Given the description of an element on the screen output the (x, y) to click on. 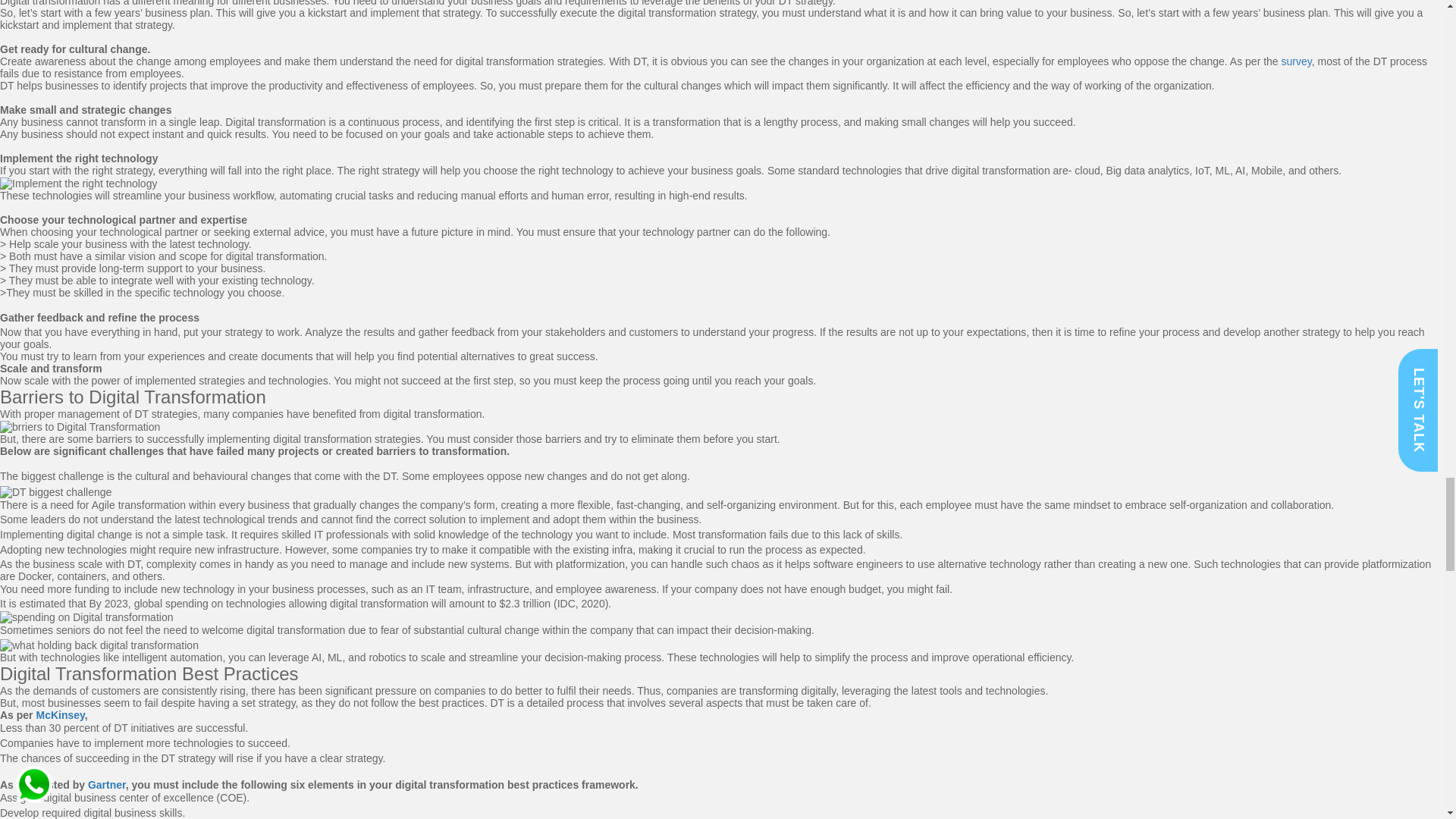
Barriers to Digital Transformation (133, 396)
Digital Transformation Best Practices (149, 673)
